Given the description of an element on the screen output the (x, y) to click on. 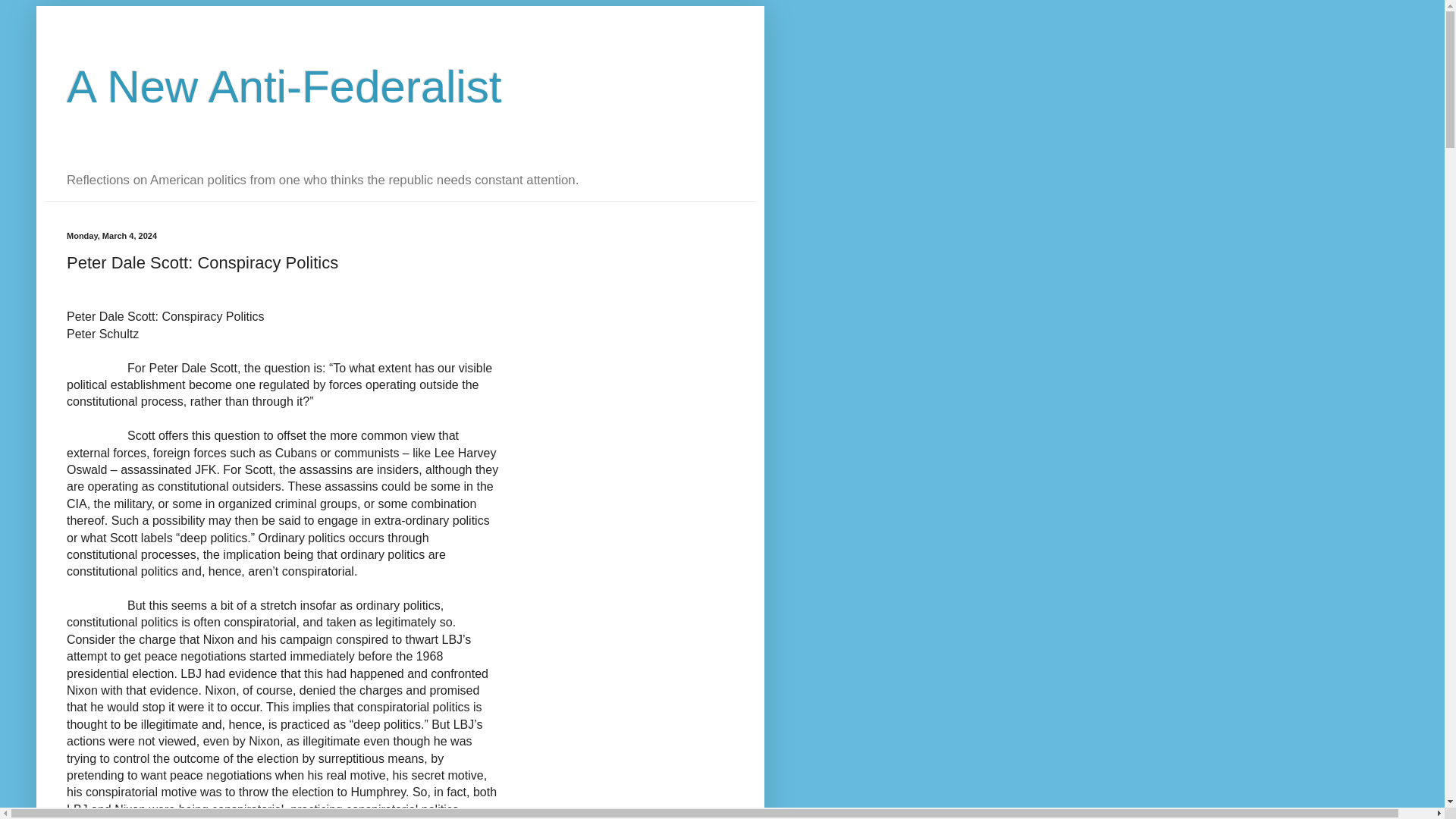
A New Anti-Federalist (284, 86)
